Given the description of an element on the screen output the (x, y) to click on. 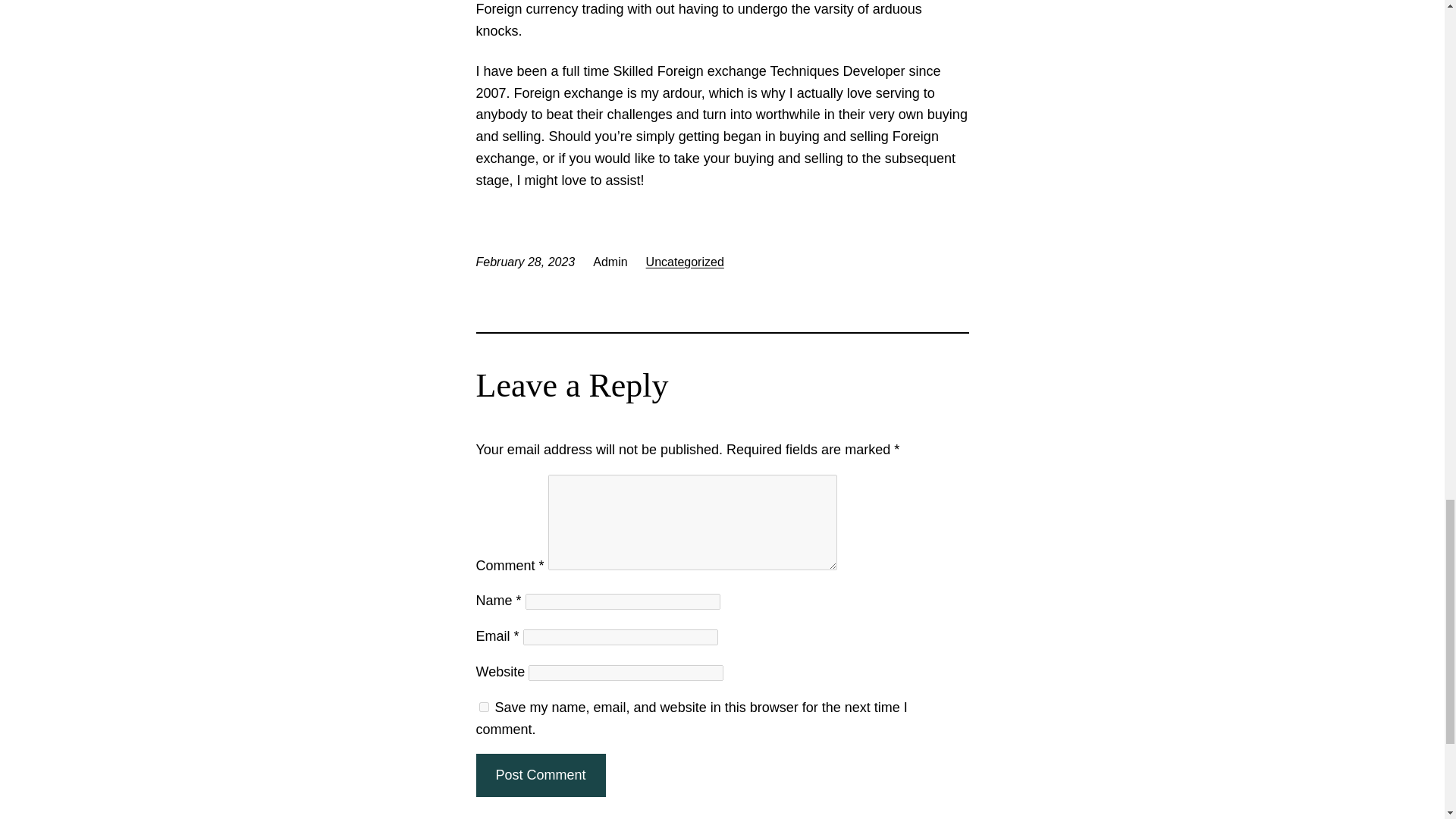
Uncategorized (684, 261)
yes (484, 706)
Post Comment (540, 774)
Post Comment (540, 774)
